Given the description of an element on the screen output the (x, y) to click on. 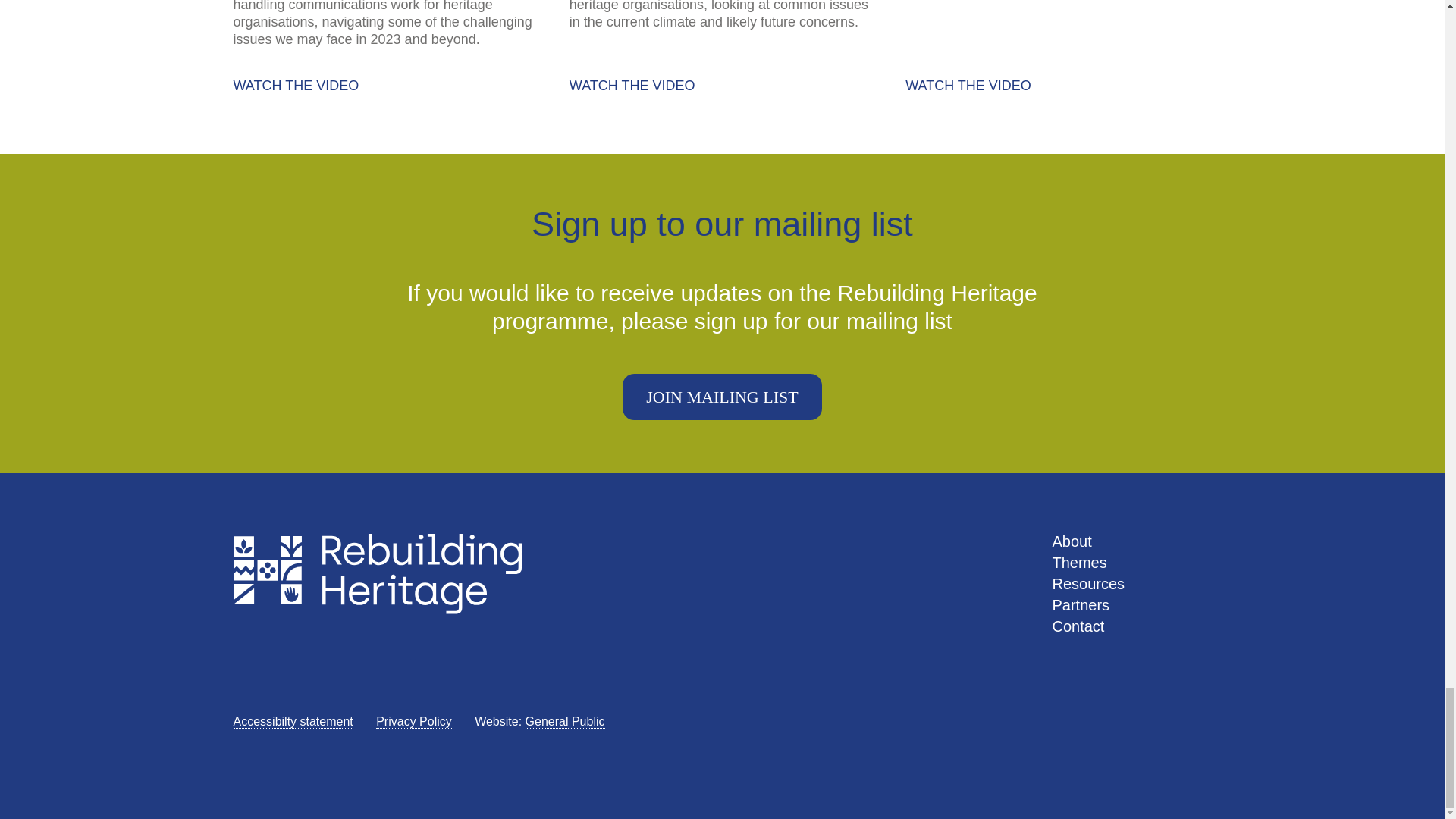
WATCH THE VIDEO (632, 85)
Contact (1078, 626)
WATCH THE VIDEO (967, 85)
Privacy Policy (413, 721)
General Public (565, 721)
Resources (1088, 583)
JOIN MAILING LIST (722, 396)
WATCH THE VIDEO (295, 85)
About (1072, 541)
Partners (1080, 605)
